Given the description of an element on the screen output the (x, y) to click on. 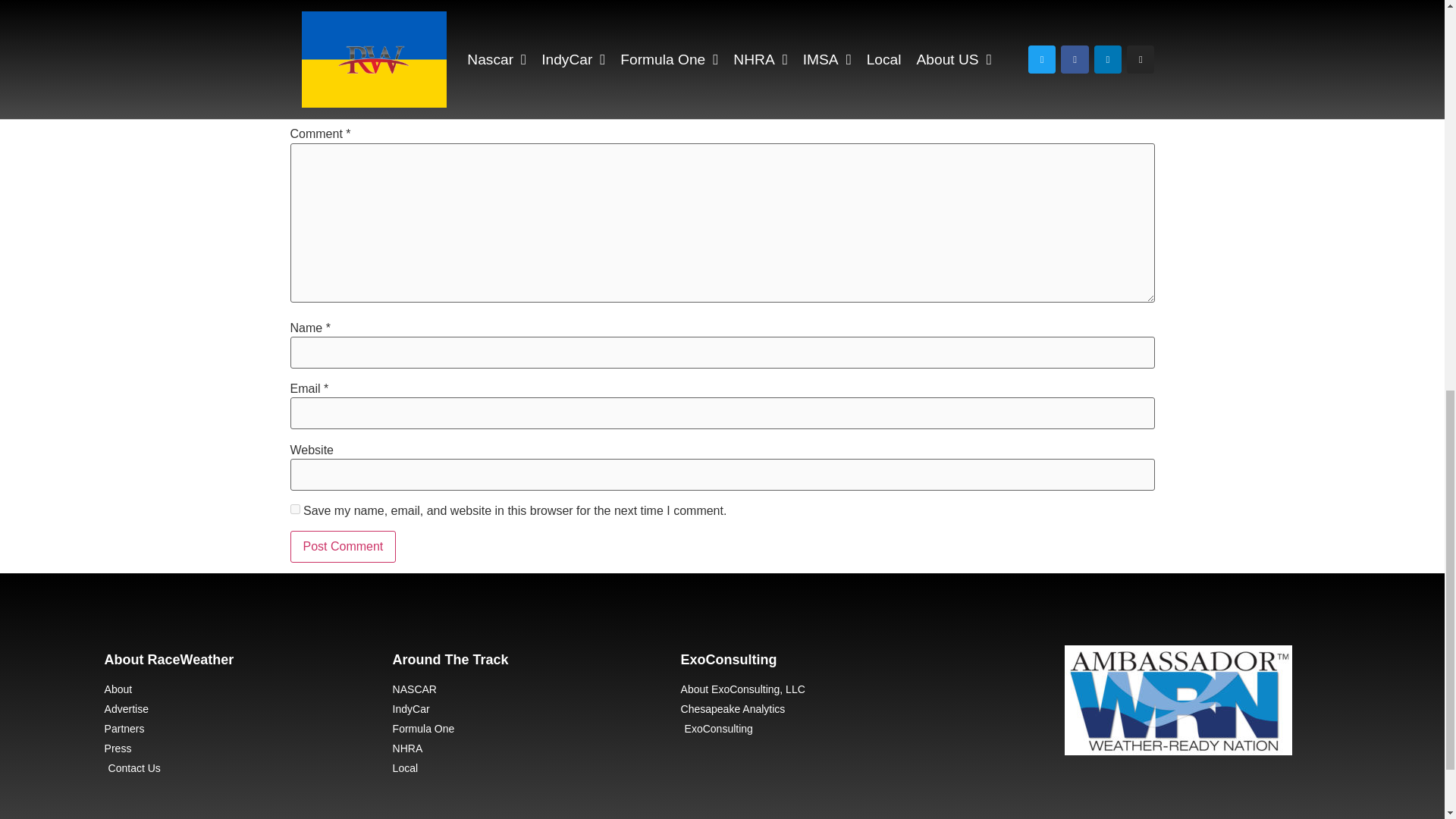
Post Comment (342, 546)
yes (294, 509)
